Given the description of an element on the screen output the (x, y) to click on. 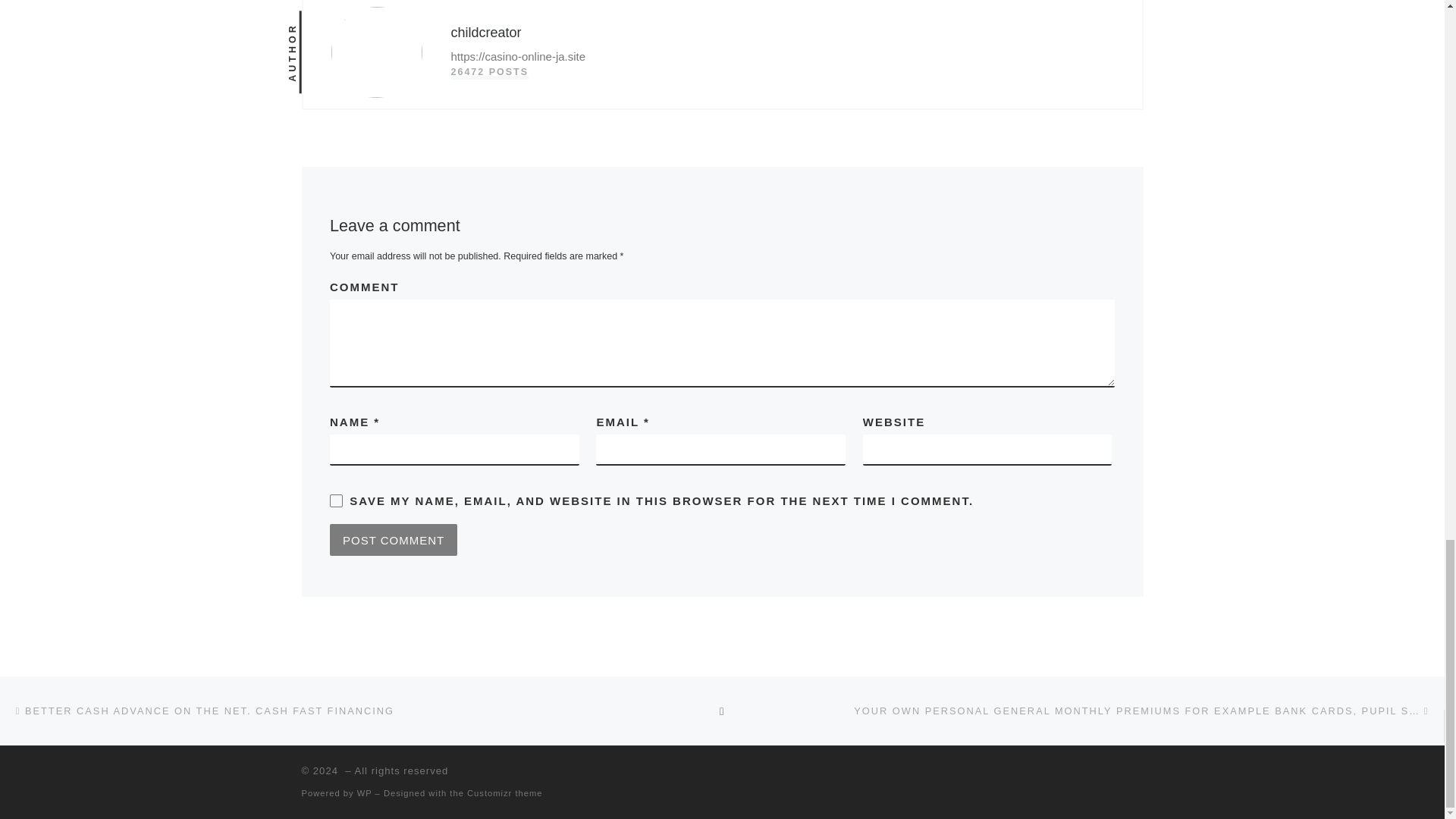
Customizr theme (505, 792)
yes (336, 500)
26472 POSTS (488, 72)
View all the posts of the author (488, 72)
WP (364, 792)
Post Comment (393, 540)
BETTER CASH ADVANCE ON THE NET. CASH FAST FINANCING (202, 711)
Powered by WordPress (364, 792)
Customizr theme (505, 792)
